Given the description of an element on the screen output the (x, y) to click on. 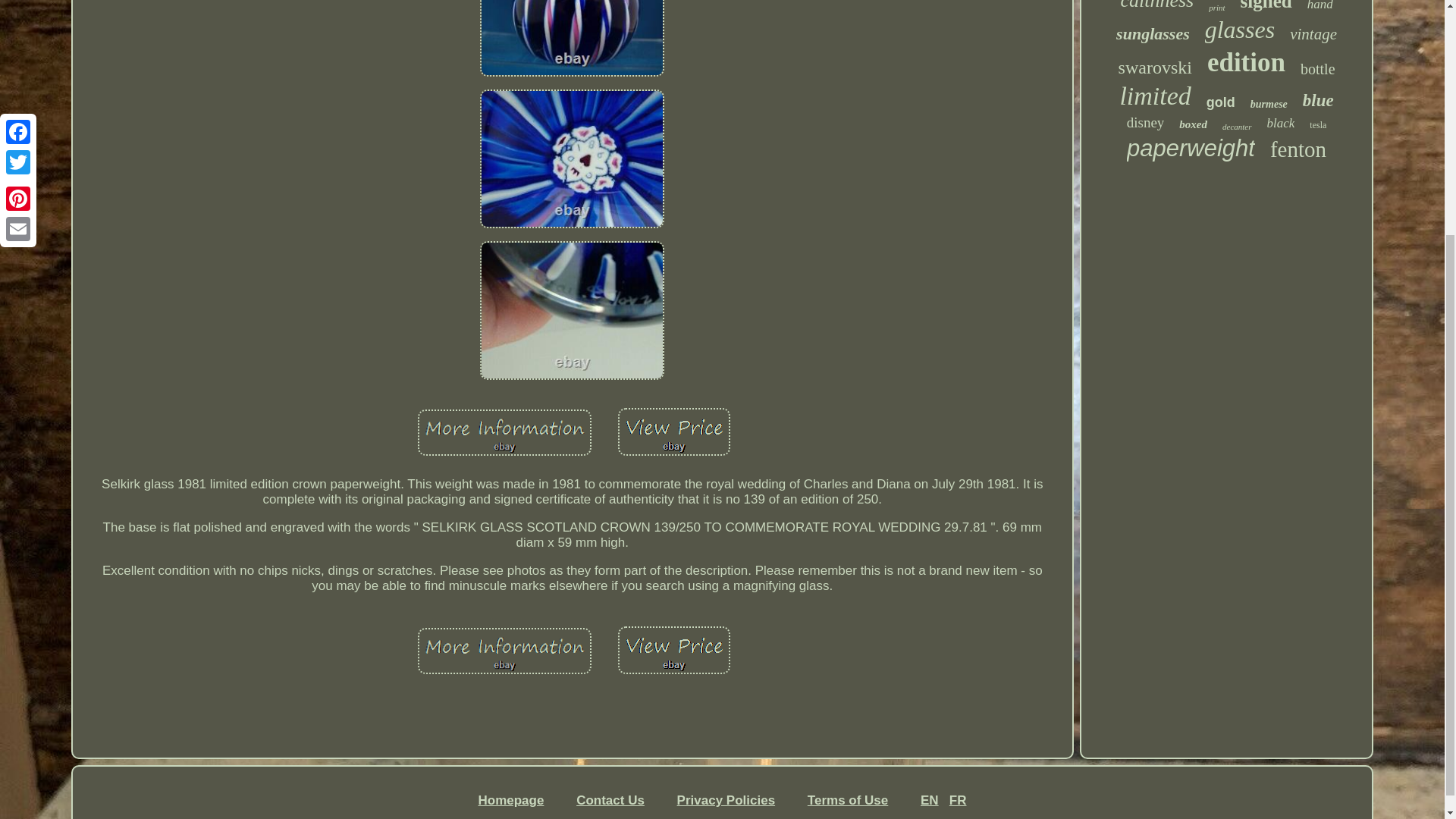
Selkirk Glass 1981 Limited Edition Crown Paperweight (571, 160)
Selkirk glass 1981 limited edition crown paperweight (504, 432)
Selkirk Glass 1981 Limited Edition Crown Paperweight (503, 434)
Selkirk Glass 1981 Limited Edition Crown Paperweight (571, 312)
Selkirk Glass 1981 Limited Edition Crown Paperweight (673, 651)
Selkirk glass 1981 limited edition crown paperweight (571, 158)
Selkirk Glass 1981 Limited Edition Crown Paperweight (673, 433)
Selkirk Glass 1981 Limited Edition Crown Paperweight (571, 42)
Selkirk glass 1981 limited edition crown paperweight (504, 651)
Selkirk glass 1981 limited edition crown paperweight (571, 38)
Selkirk Glass 1981 Limited Edition Crown Paperweight (503, 652)
Selkirk glass 1981 limited edition crown paperweight (673, 431)
Selkirk glass 1981 limited edition crown paperweight (571, 310)
Selkirk glass 1981 limited edition crown paperweight (673, 650)
